Given the description of an element on the screen output the (x, y) to click on. 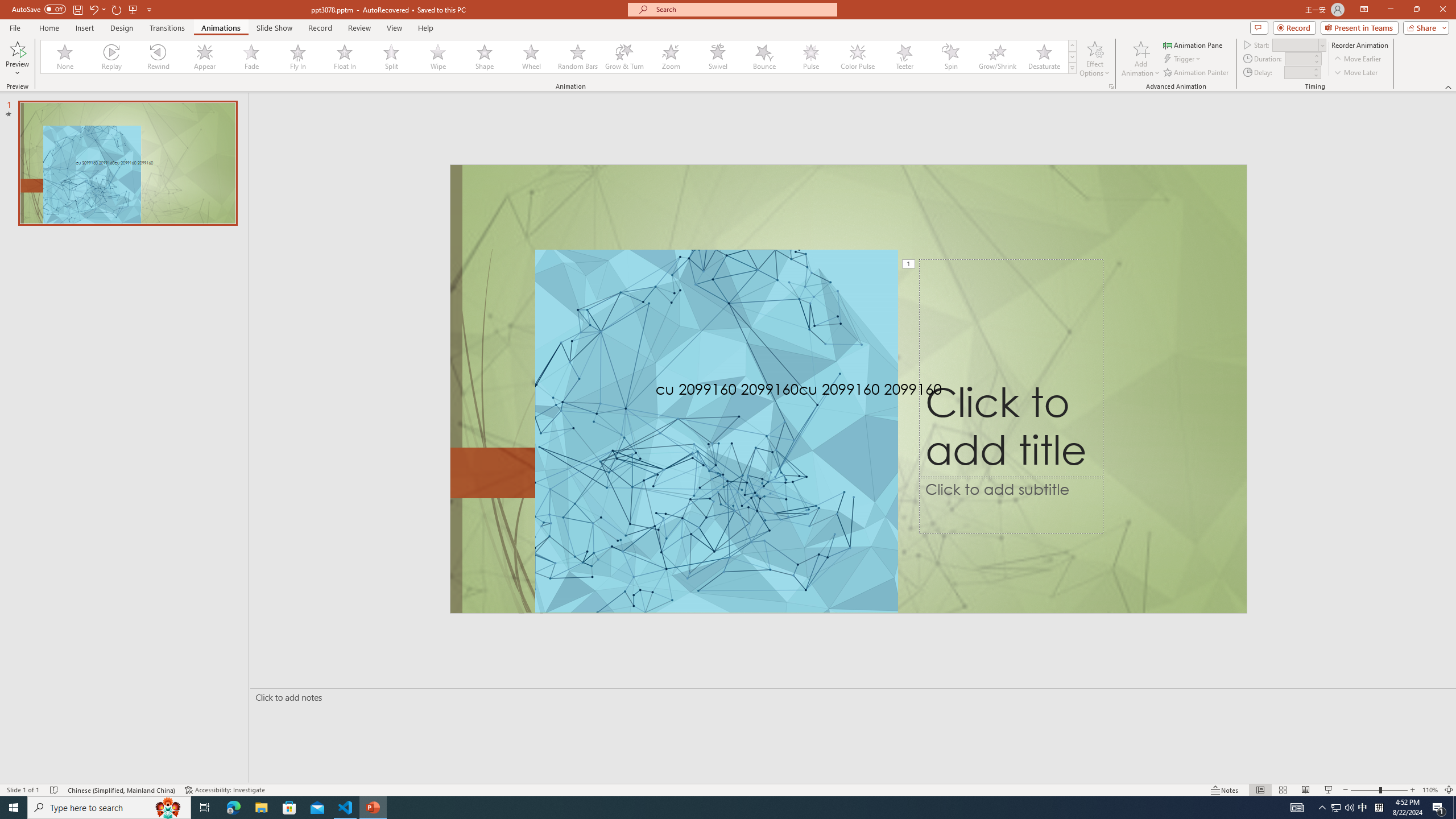
Split (391, 56)
Swivel (717, 56)
